Given the description of an element on the screen output the (x, y) to click on. 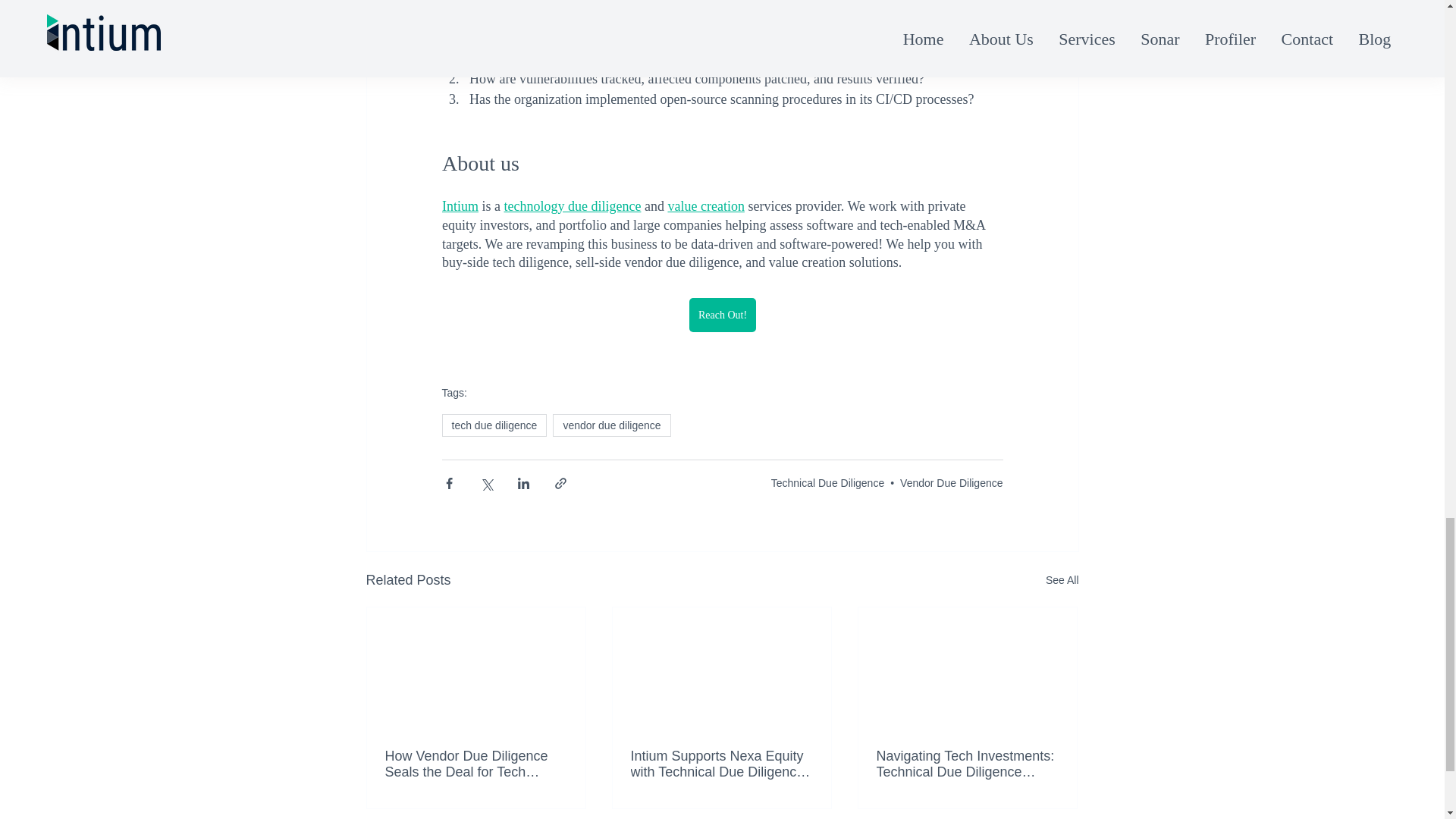
Vendor Due Diligence (951, 482)
Reach Out! (721, 315)
Intium (459, 206)
How Vendor Due Diligence Seals the Deal for Tech Companies (476, 764)
tech due diligence (494, 425)
See All (1061, 580)
value creation (705, 206)
technology due diligence (571, 206)
vendor due diligence (611, 425)
